Given the description of an element on the screen output the (x, y) to click on. 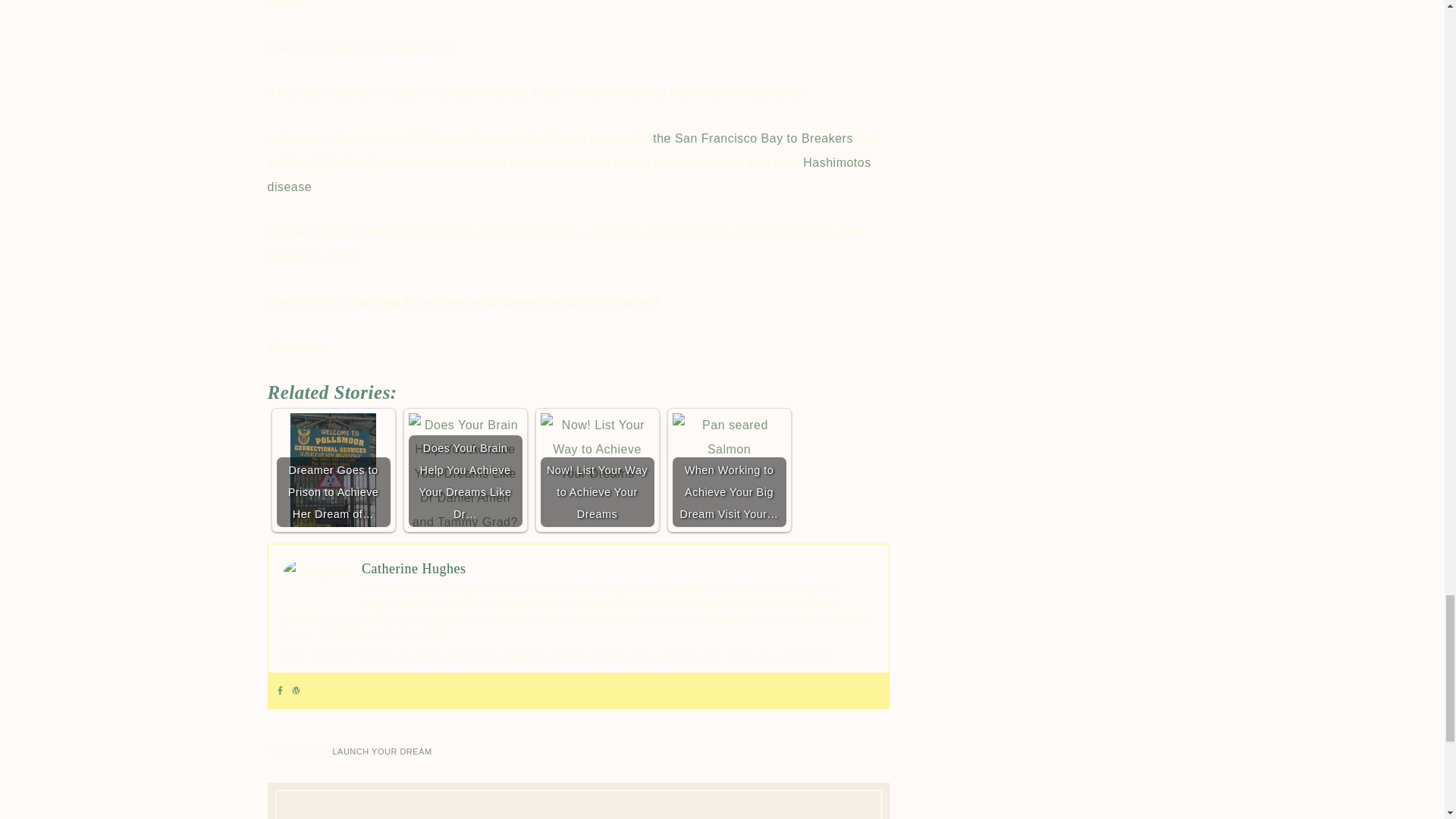
the San Francisco Bay to Breakers (752, 137)
Now! List Your Way to Achieve Your Dreams (596, 470)
Hashimotos disease (568, 174)
LAUNCH YOUR DREAM (380, 750)
Now! List Your Way to Achieve Your Dreams  (596, 449)
Catherine Hughes (413, 568)
